Given the description of an element on the screen output the (x, y) to click on. 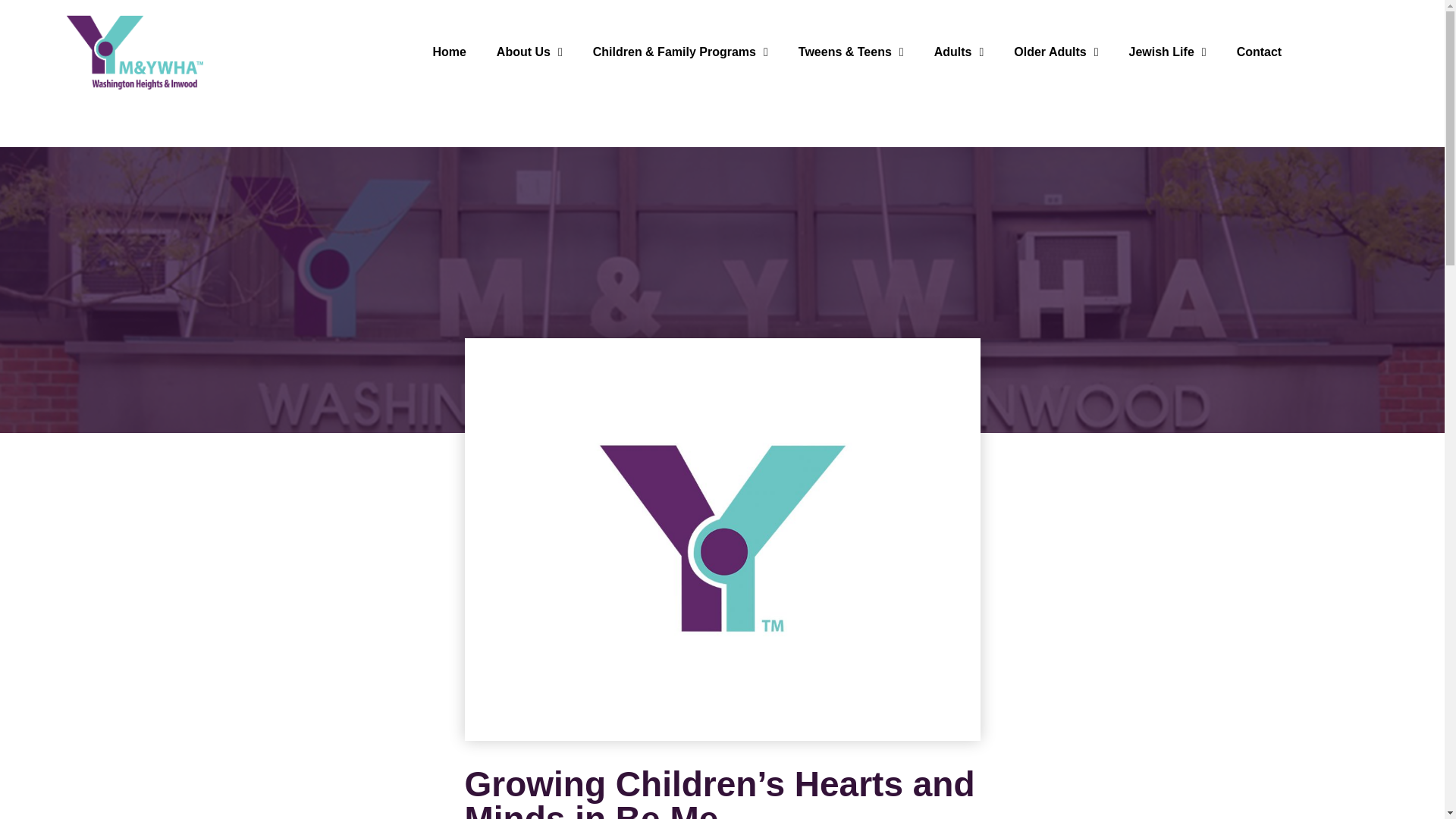
Home (449, 51)
About Us (529, 51)
